Given the description of an element on the screen output the (x, y) to click on. 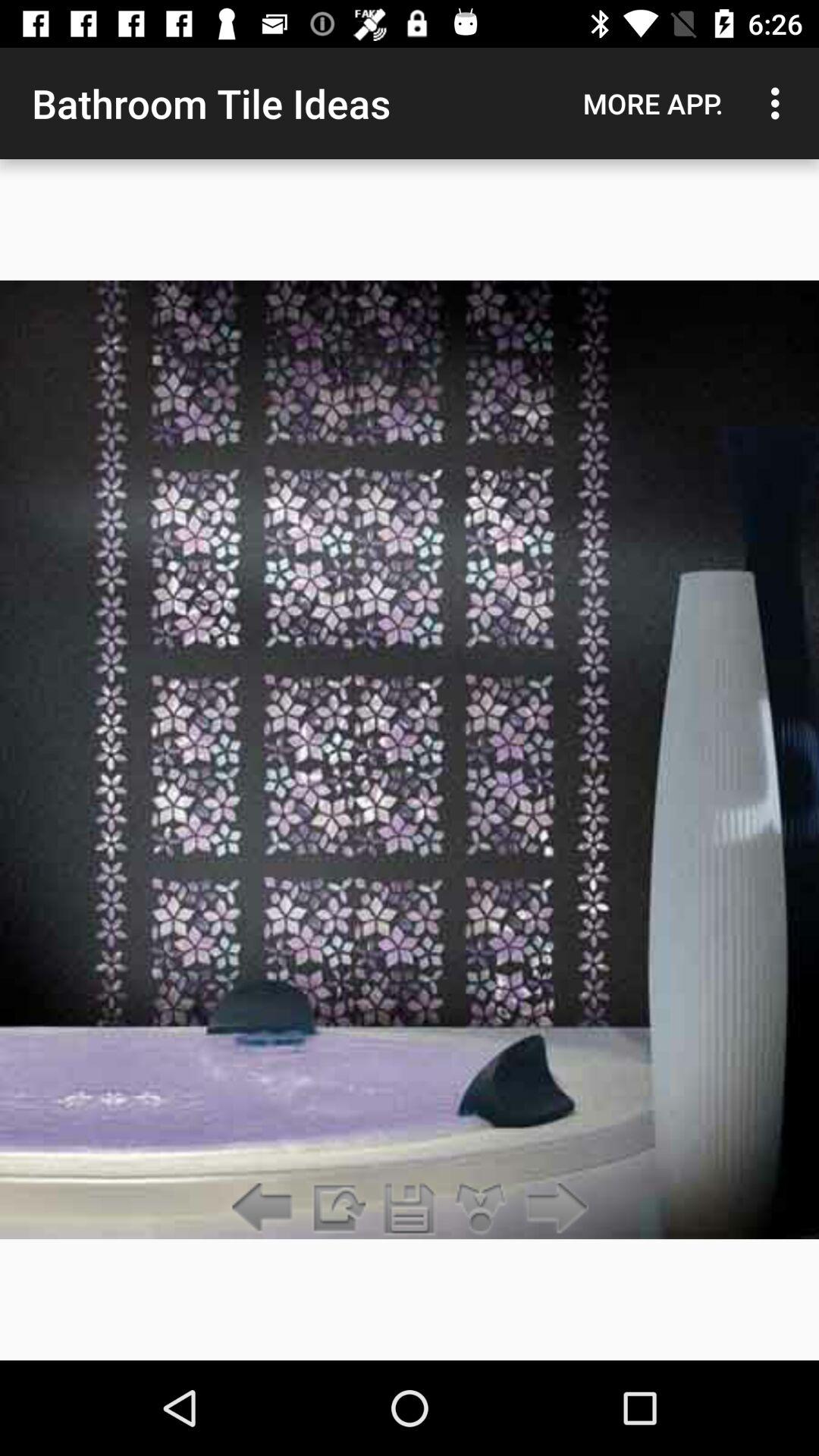
save file (409, 1208)
